Given the description of an element on the screen output the (x, y) to click on. 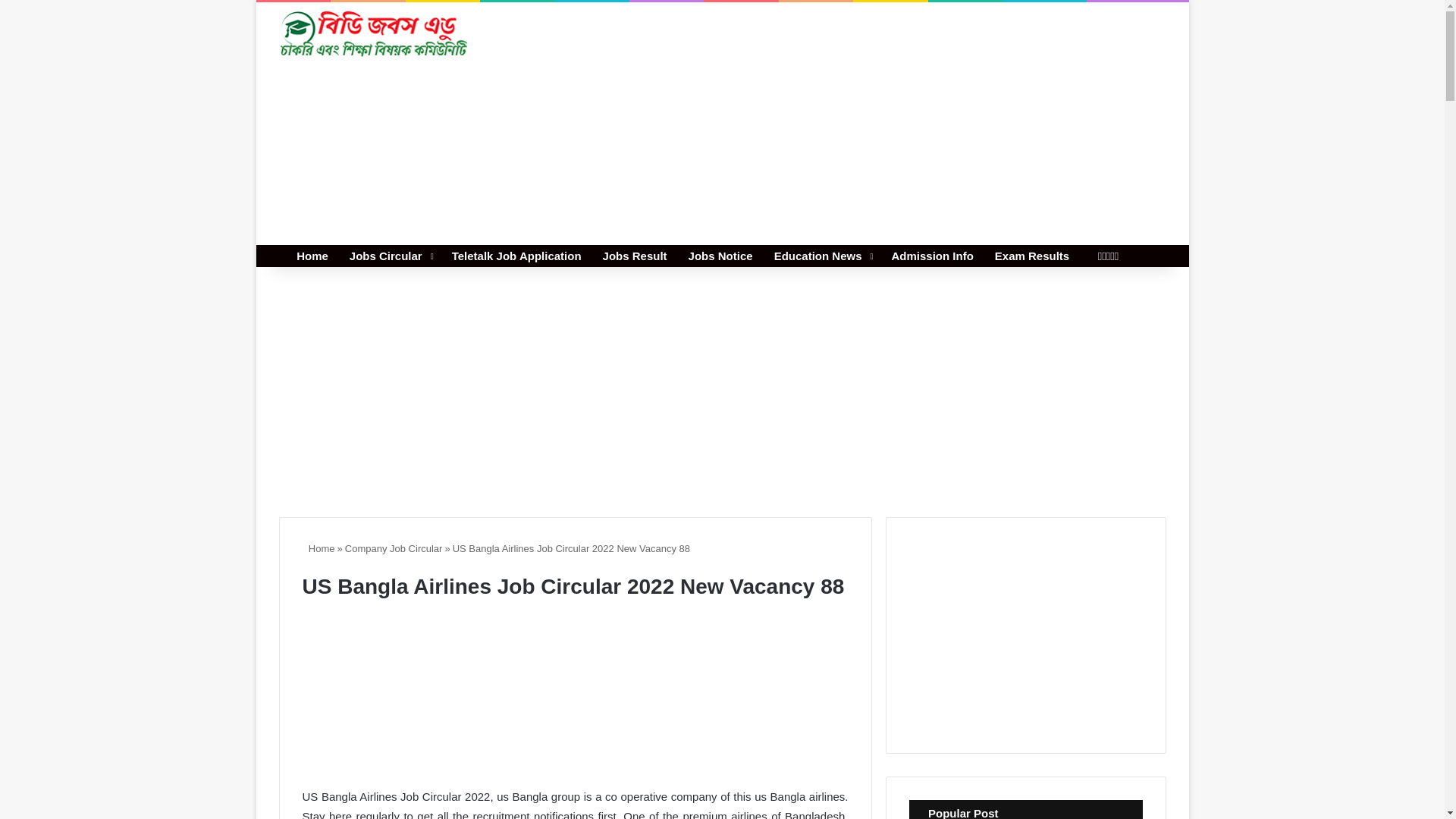
Jobs Notice (720, 255)
Admission Info (932, 255)
Jobs Result (635, 255)
Advertisement (574, 696)
Advertisement (874, 123)
Teletalk Job Application (516, 255)
Company Job Circular (393, 548)
Education News (821, 255)
BDJobsEdu (373, 33)
Home (317, 548)
Home (309, 255)
Search for (1154, 255)
Jobs Circular (390, 255)
Exam Results (1032, 255)
